Given the description of an element on the screen output the (x, y) to click on. 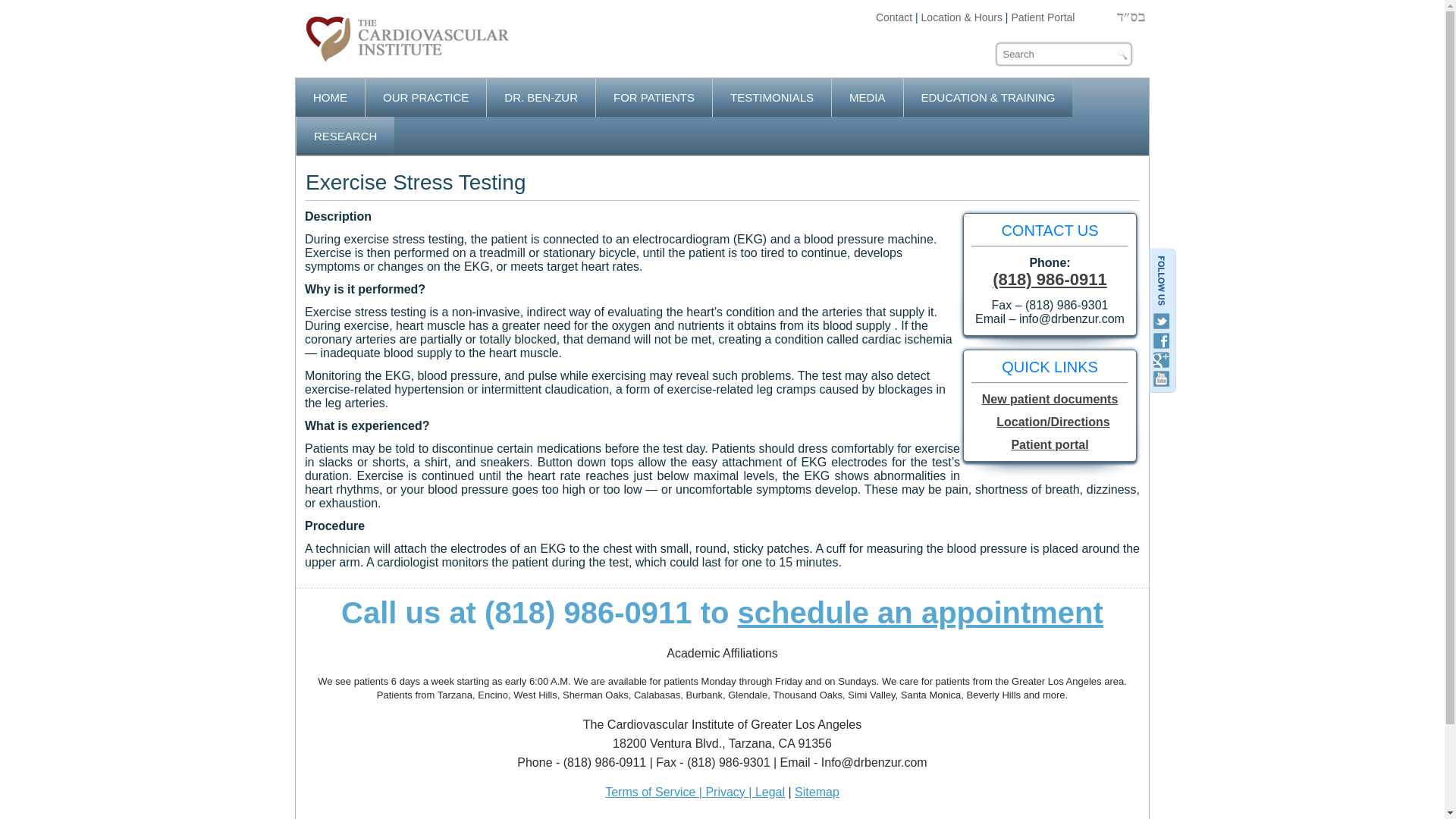
Home (330, 97)
FOR PATIENTS (653, 97)
OUR PRACTICE (425, 97)
TESTIMONIALS (772, 97)
DR. BEN-ZUR (540, 97)
MEDIA (866, 97)
HOME (330, 97)
FOR PATIENTS (653, 97)
Patient Portal (1042, 17)
DR. BEN-ZUR (540, 97)
